Given the description of an element on the screen output the (x, y) to click on. 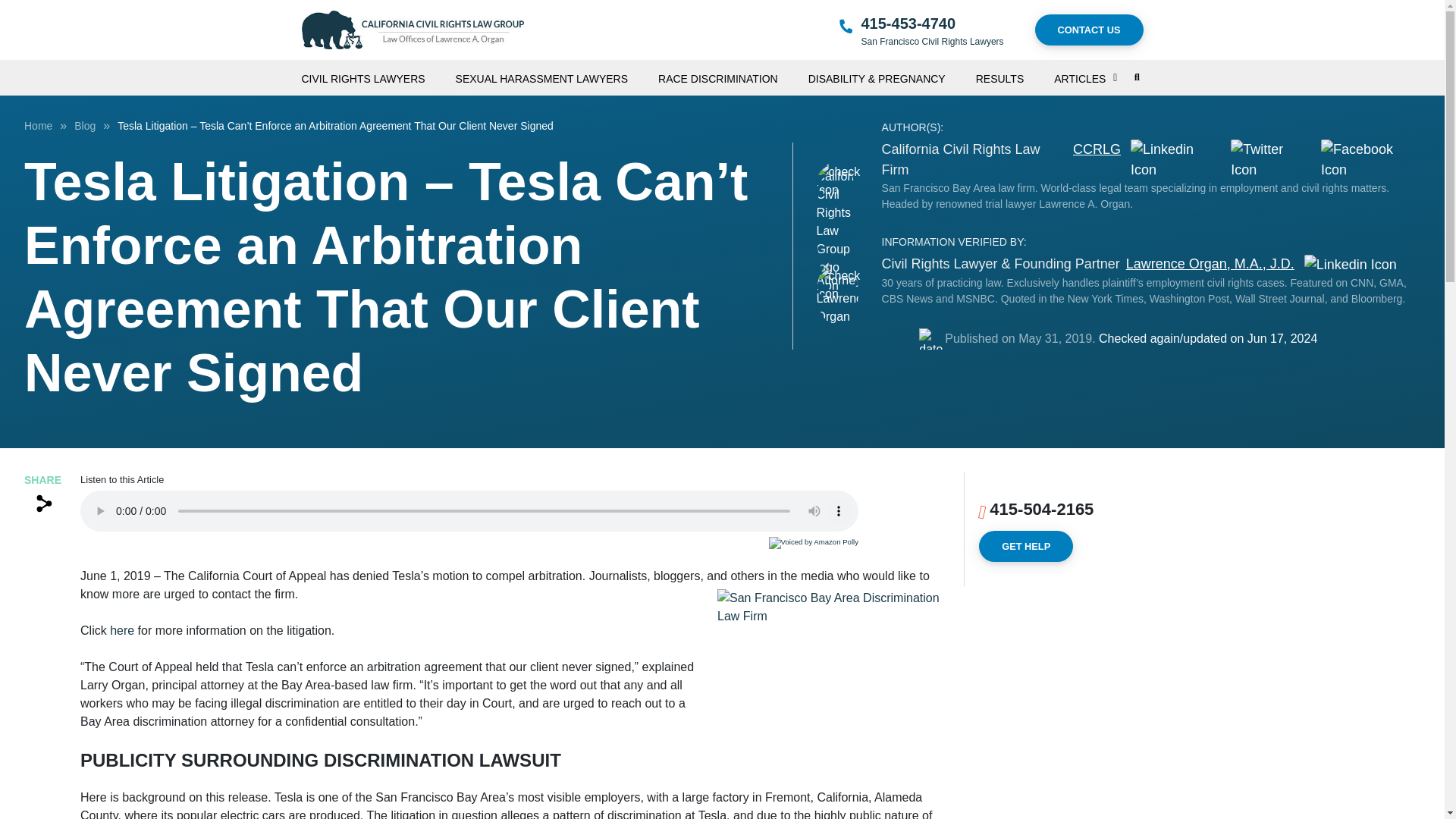
Lawrence Organ, M.A., J.D. (1209, 264)
Search (1097, 136)
415-453-4740 (908, 23)
RACE DISCRIMINATION (733, 72)
SEXUAL HARASSMENT LAWYERS (556, 72)
CCRLG (1097, 159)
Blog (85, 125)
GET HELP (1025, 545)
CONTACT US (1088, 29)
RESULTS (1014, 72)
415-504-2165 (1041, 508)
CIVIL RIGHTS LAWYERS (378, 72)
Home (38, 125)
here (121, 630)
Search (1136, 77)
